Given the description of an element on the screen output the (x, y) to click on. 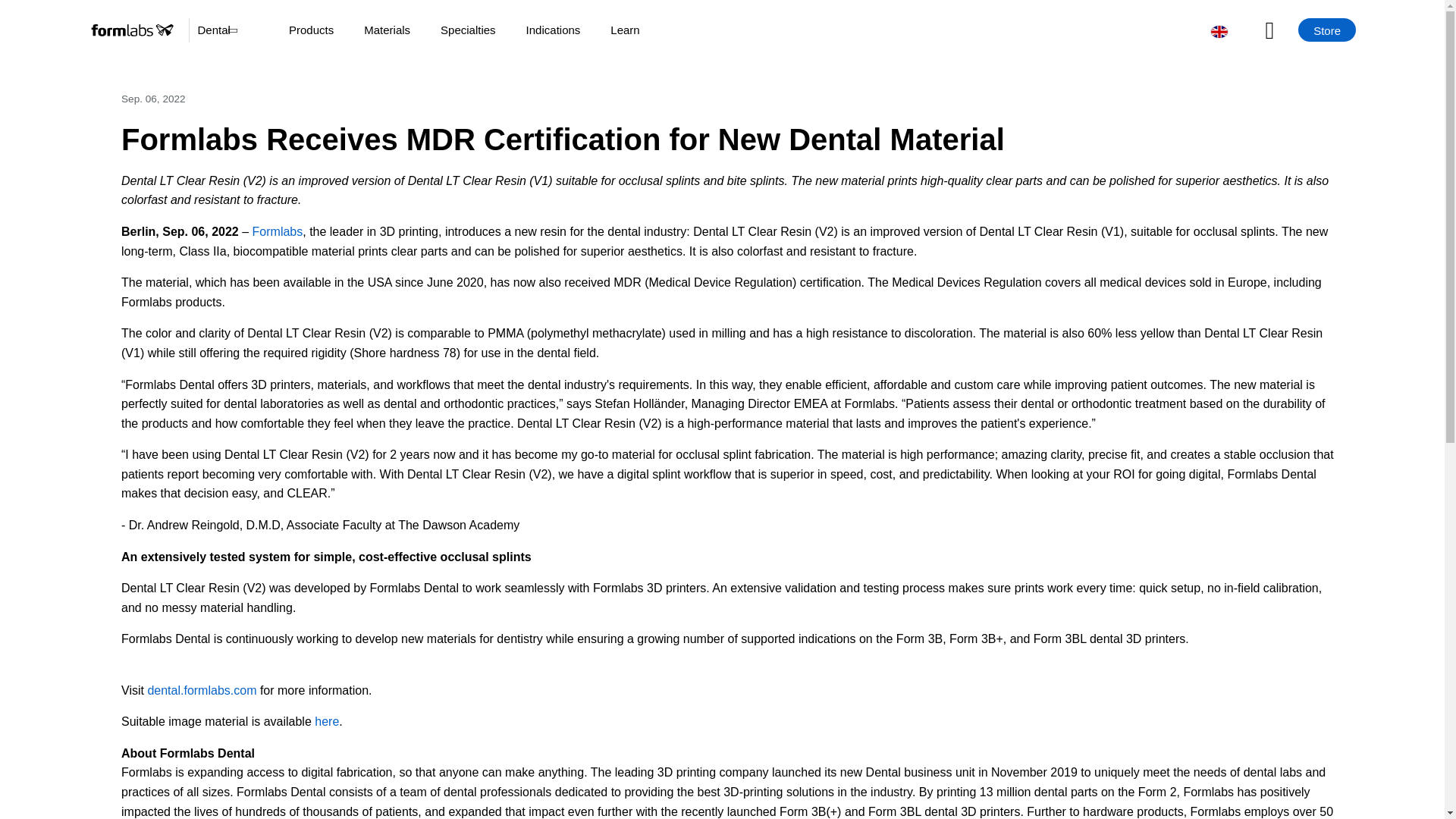
Indications (552, 29)
Store (1326, 29)
Dental (216, 30)
Materials (387, 29)
Products (310, 29)
Learn (624, 29)
Specialties (468, 29)
Cart (1281, 30)
Store (1326, 29)
